Given the description of an element on the screen output the (x, y) to click on. 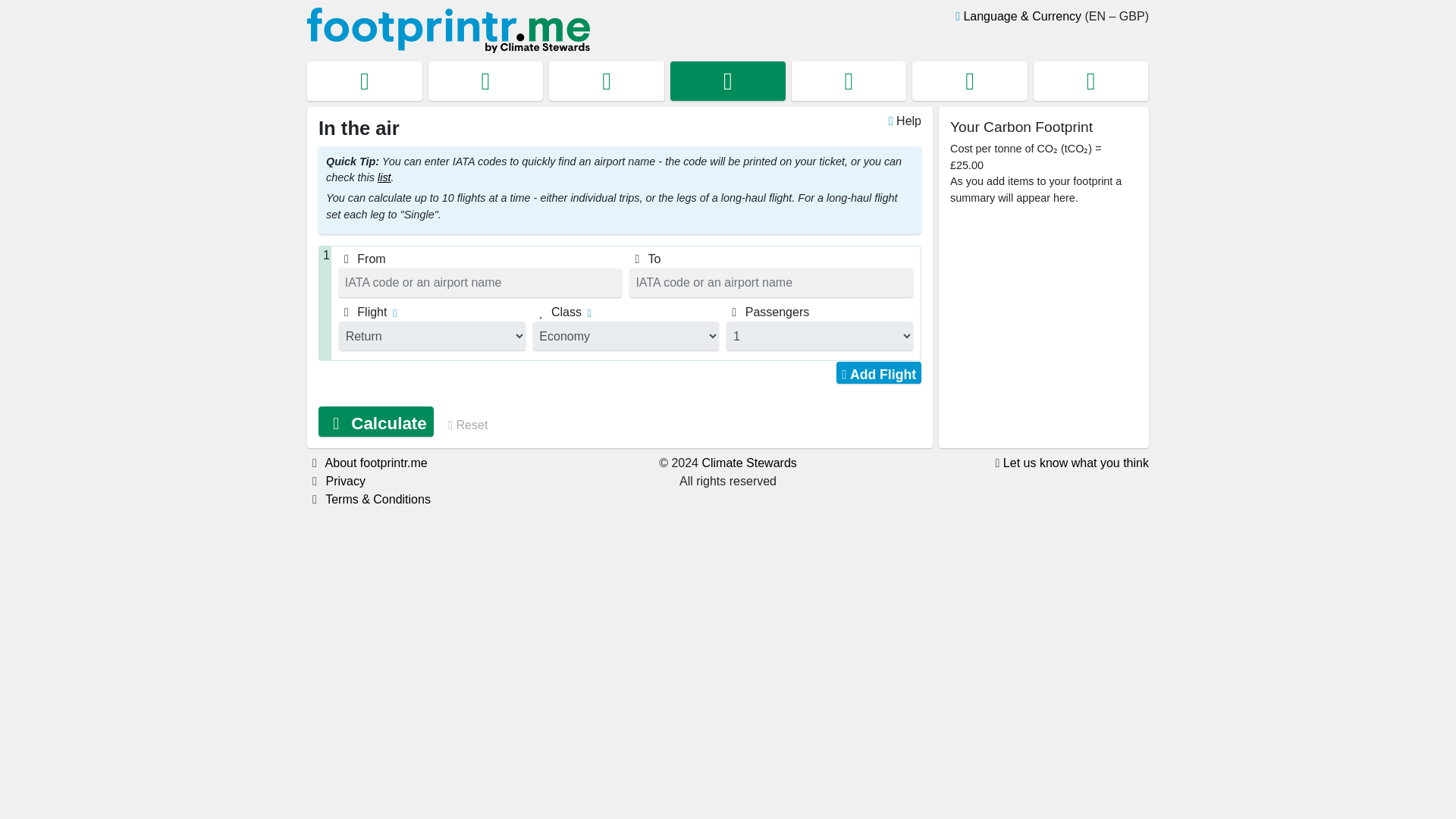
Reset (461, 424)
Privacy (344, 481)
About footprintr.me (376, 462)
Let us know what you think (1075, 462)
list (384, 177)
 Calculate (375, 421)
Climate Stewards (748, 462)
